Given the description of an element on the screen output the (x, y) to click on. 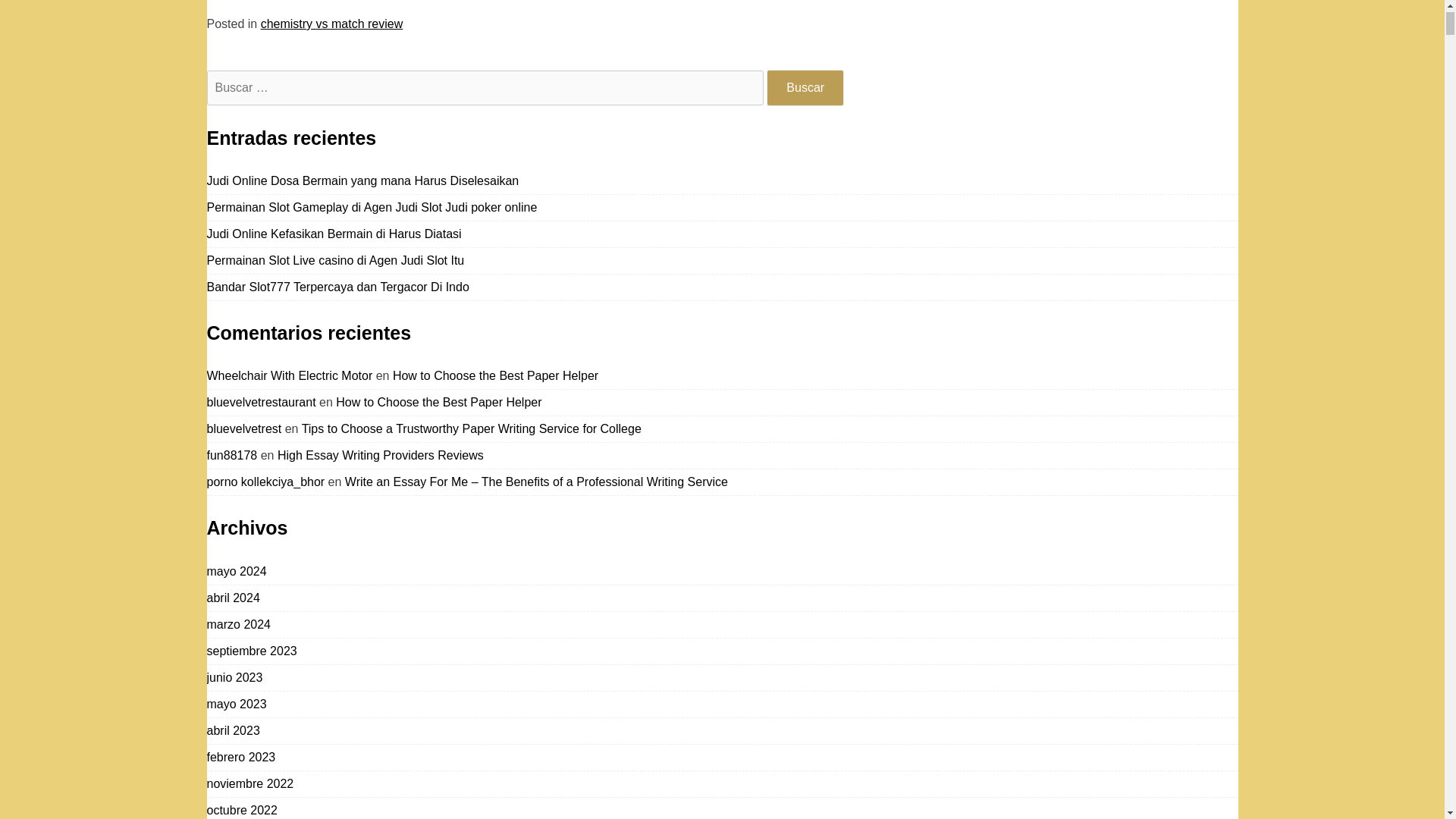
septiembre 2023 (251, 650)
fun88178 (231, 454)
abril 2023 (232, 730)
chemistry vs match review (331, 23)
mayo 2023 (236, 703)
noviembre 2022 (250, 783)
mayo 2024 (236, 571)
octubre 2022 (241, 809)
High Essay Writing Providers Reviews (380, 454)
Bandar Slot777 Terpercaya dan Tergacor Di Indo (337, 286)
Permainan Slot Live casino di Agen Judi Slot Itu (335, 259)
abril 2024 (232, 597)
How to Choose the Best Paper Helper (438, 401)
Buscar (805, 87)
bluevelvetrest (243, 428)
